Given the description of an element on the screen output the (x, y) to click on. 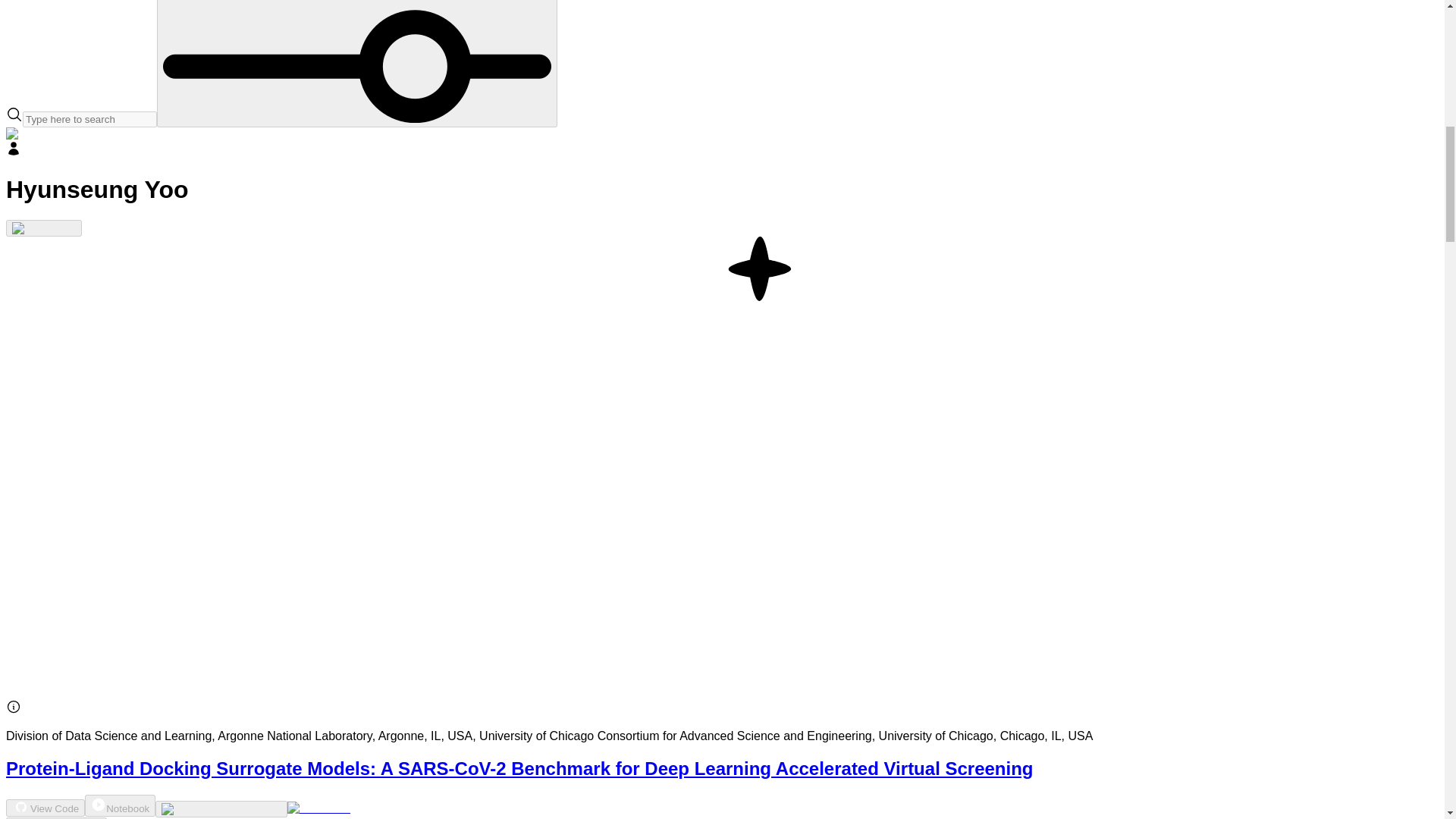
View code for similar papers (221, 808)
Play Icon (98, 804)
Github IconView Code (44, 807)
Get notified when a new paper is added by the author (43, 228)
Github IconView Code (44, 807)
Bookmark this paper (55, 818)
Github Icon (20, 806)
Contribute your code for this paper to the community (318, 807)
Search Icon (14, 114)
Play IconNotebook (119, 805)
